Given the description of an element on the screen output the (x, y) to click on. 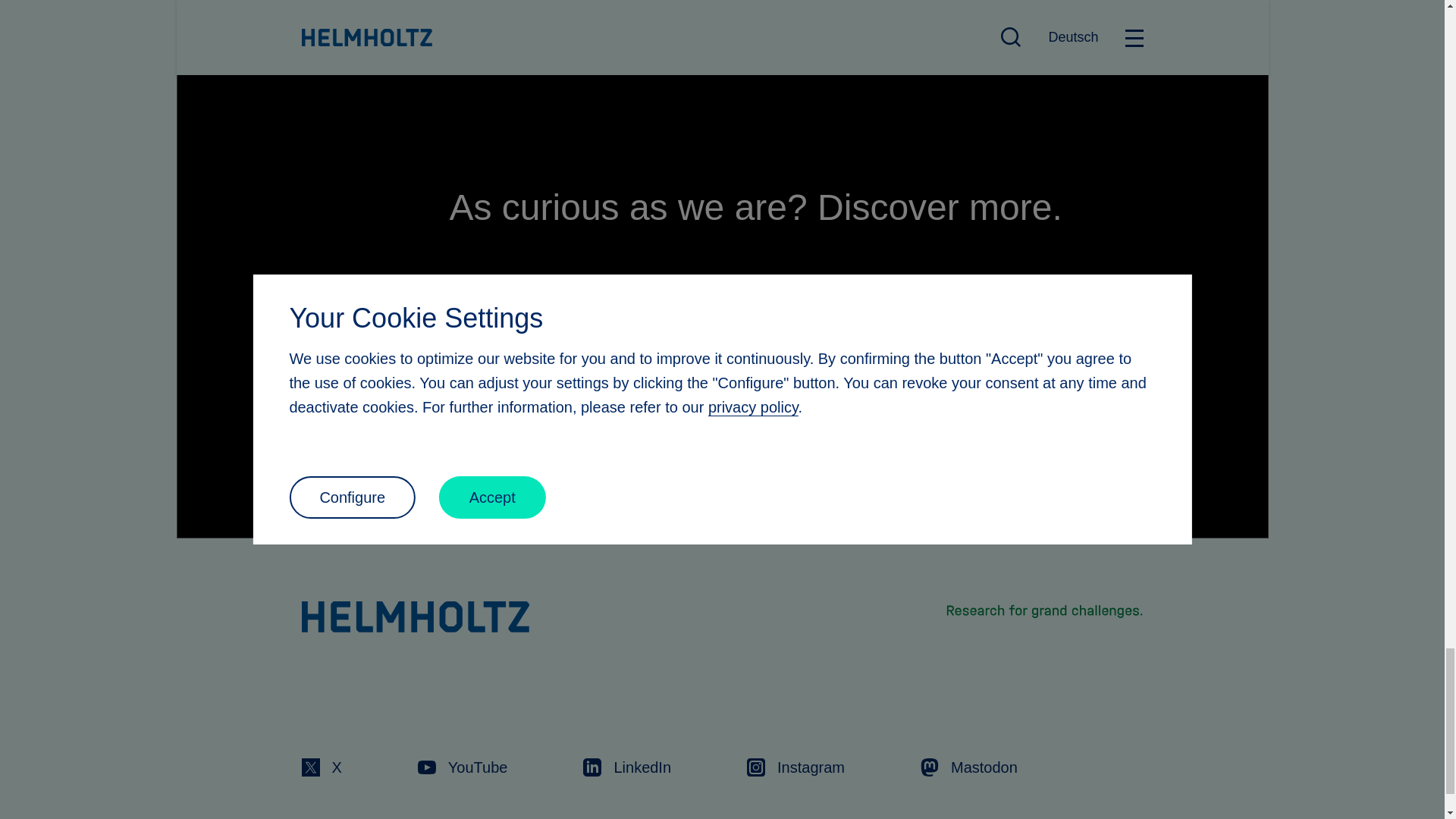
Helmholtz - Association of German Research Centres (415, 616)
